Given the description of an element on the screen output the (x, y) to click on. 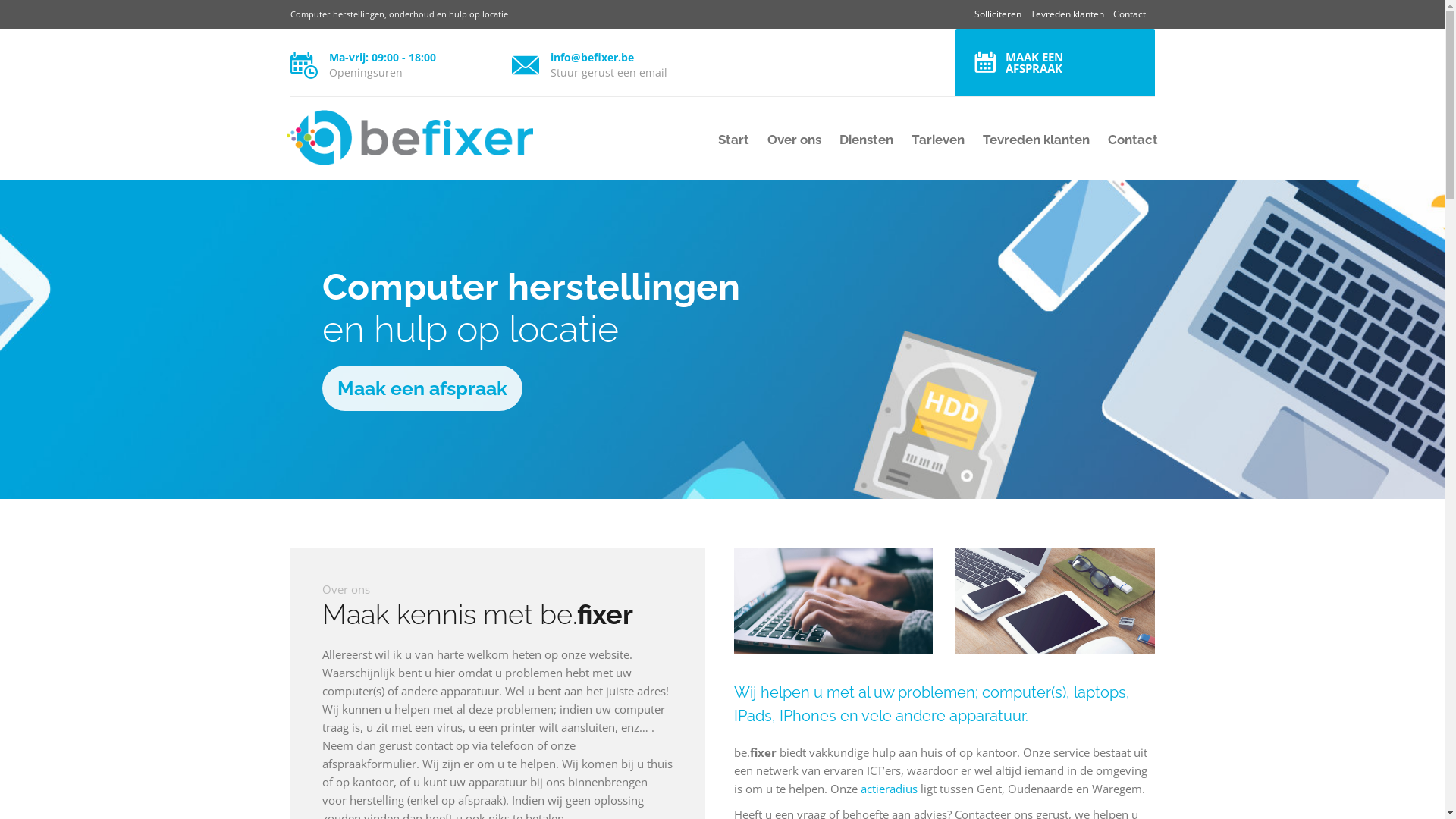
Tarieven Element type: text (937, 139)
Start Element type: text (733, 139)
Tevreden klanten Element type: text (1066, 13)
actieradius Element type: text (887, 788)
Contact Element type: text (1129, 13)
Over ons Element type: text (794, 139)
Solliciteren Element type: text (996, 13)
Tevreden klanten Element type: text (1035, 139)
info@befixer.be Element type: text (591, 57)
MAAK EEN AFSPRAAK Element type: text (1054, 62)
Diensten Element type: text (866, 139)
Contact Element type: text (1127, 139)
